Given the description of an element on the screen output the (x, y) to click on. 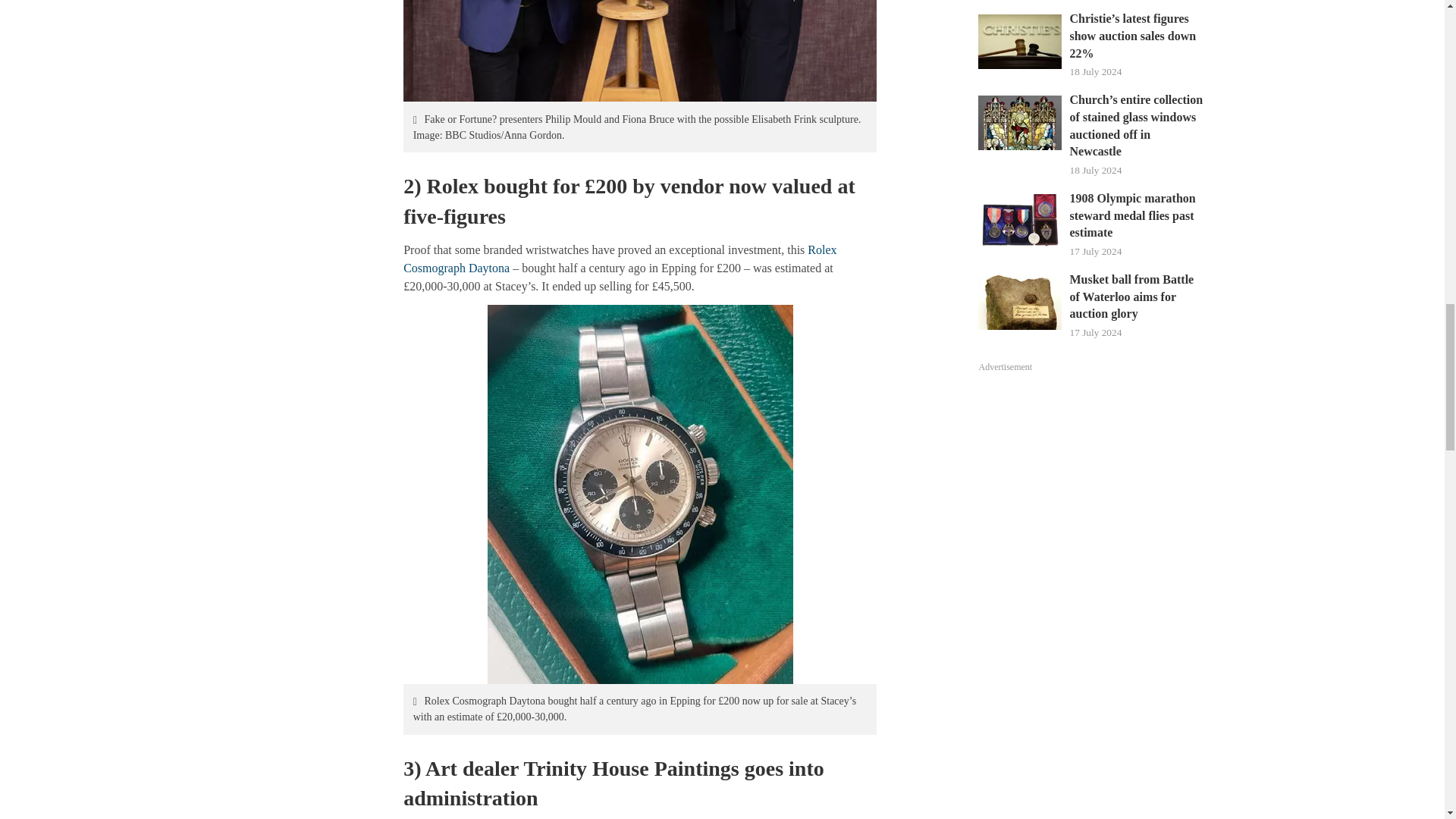
Philip Mould and Fiona Bruce (639, 51)
